Given the description of an element on the screen output the (x, y) to click on. 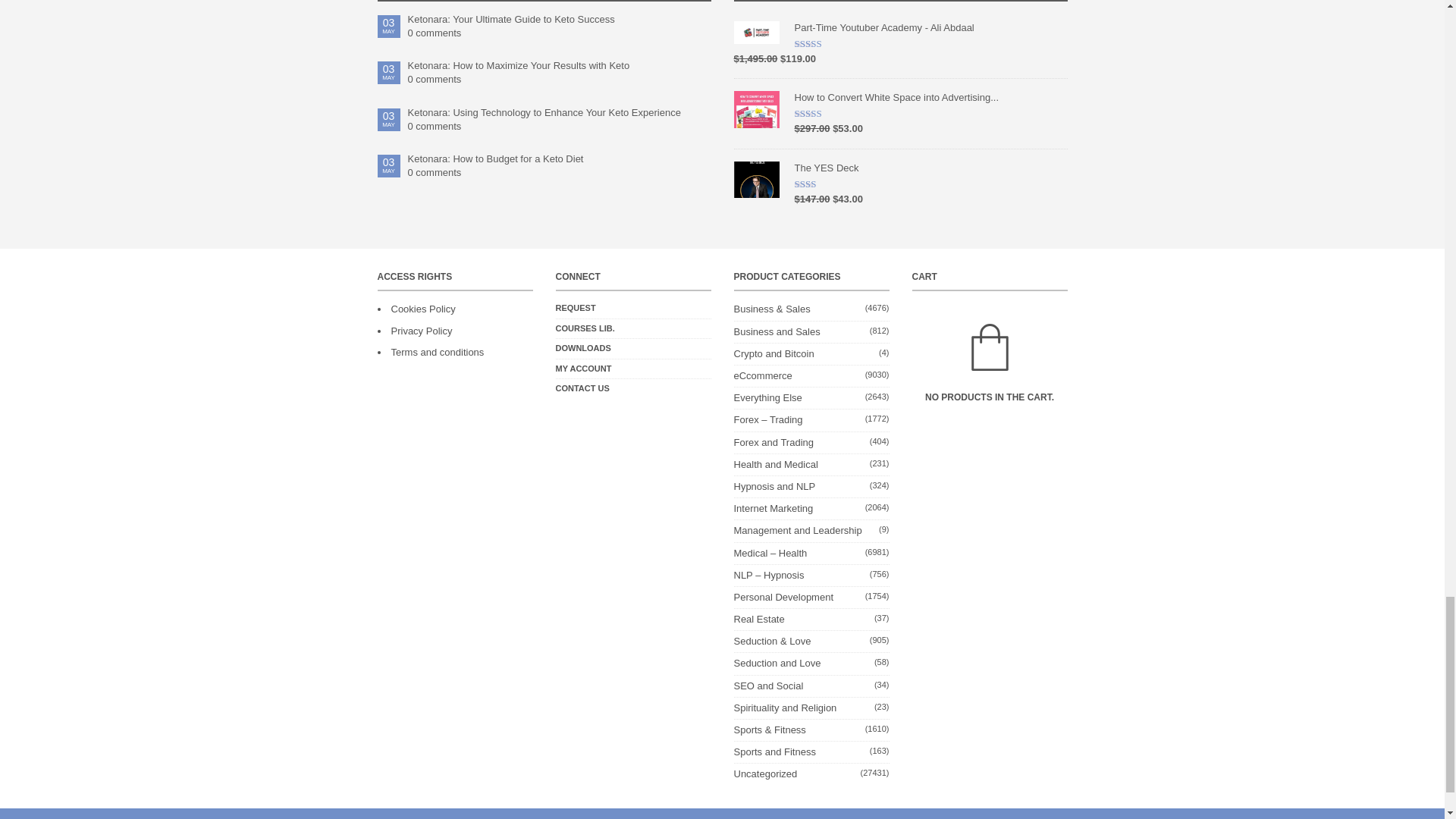
Ketonara: Your Ultimate Guide to Keto Success (559, 19)
Ketonara: How to Maximize Your Results with Keto (559, 65)
Ketonara: How to Budget for a Keto Diet (559, 159)
Ketonara: Using Technology to Enhance Your Keto Experience (559, 112)
